Given the description of an element on the screen output the (x, y) to click on. 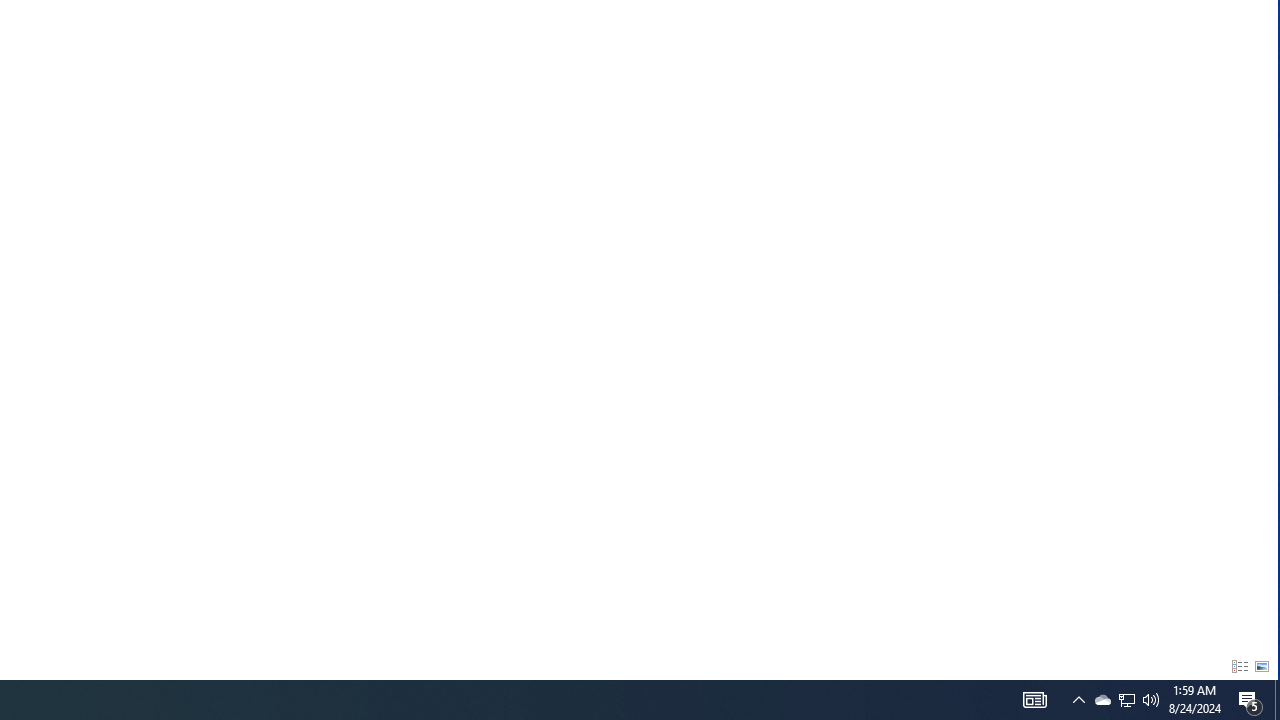
Large Icons (1261, 666)
Details (1239, 666)
